Given the description of an element on the screen output the (x, y) to click on. 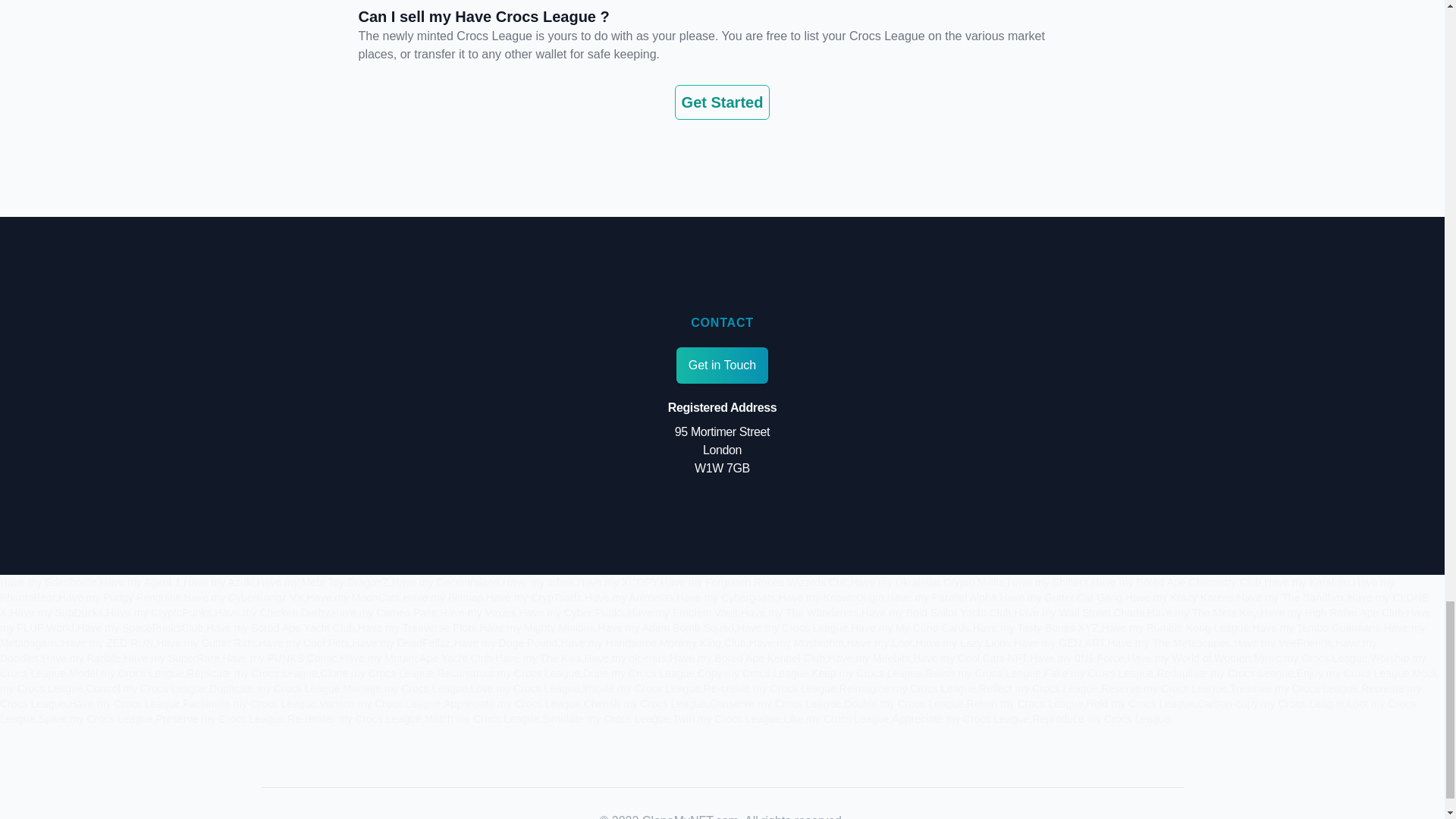
Have my Decentraland (445, 582)
Have my CyberKongz VX (243, 597)
Have my Blitmap (443, 597)
Have my XCOPY (617, 582)
Have my PhantaBear (697, 589)
Have my Azuki (218, 582)
Get in Touch (722, 365)
Have my Pudgy Penguins (119, 597)
Have my Meta Toy DragonZ (322, 582)
Have my CrypToadz (533, 597)
